Given the description of an element on the screen output the (x, y) to click on. 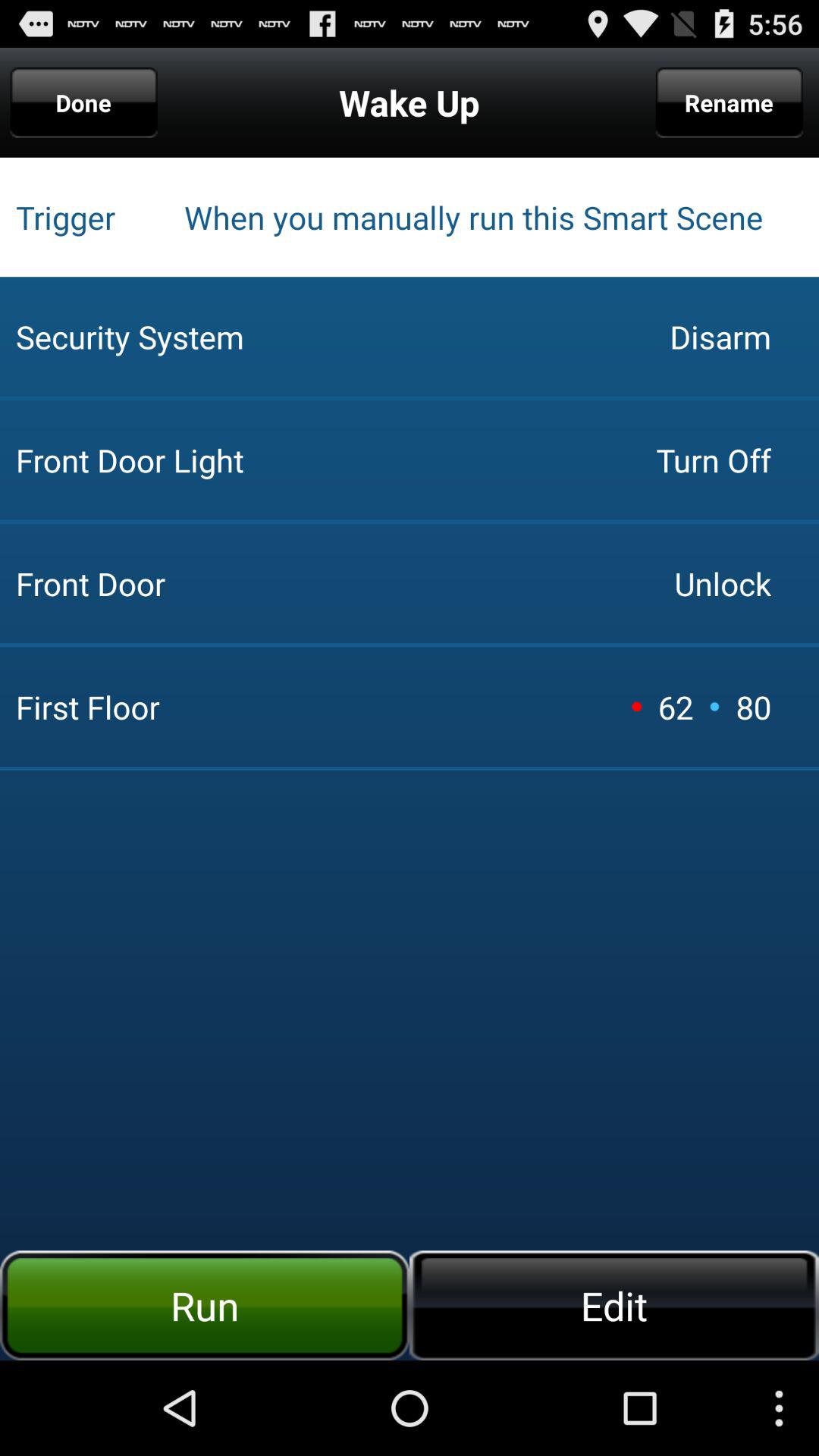
launch app to the right of wake up (729, 102)
